Given the description of an element on the screen output the (x, y) to click on. 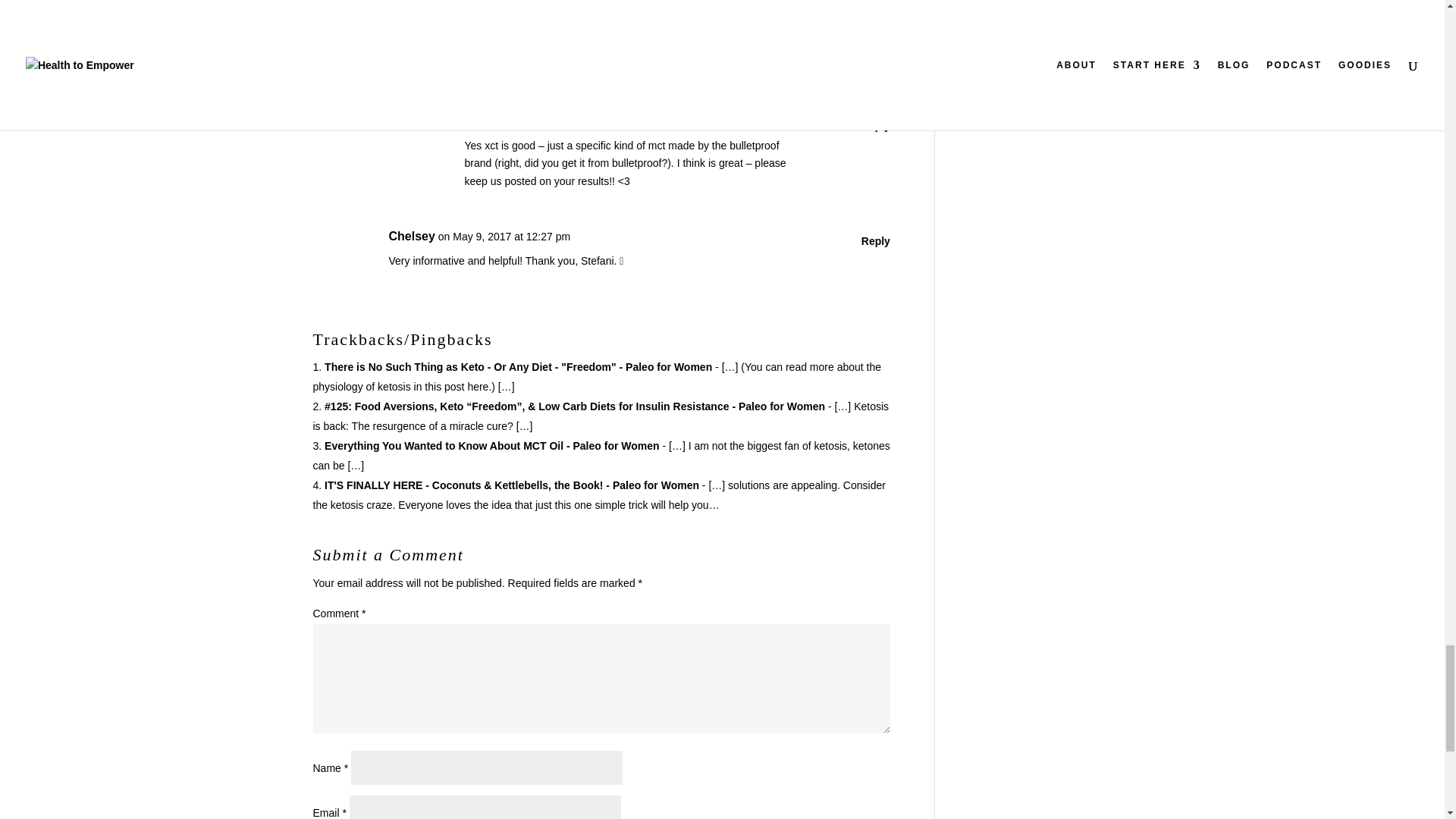
Reply (875, 126)
Stefani Ruper (503, 121)
Reply (875, 241)
Reply (875, 1)
